Given the description of an element on the screen output the (x, y) to click on. 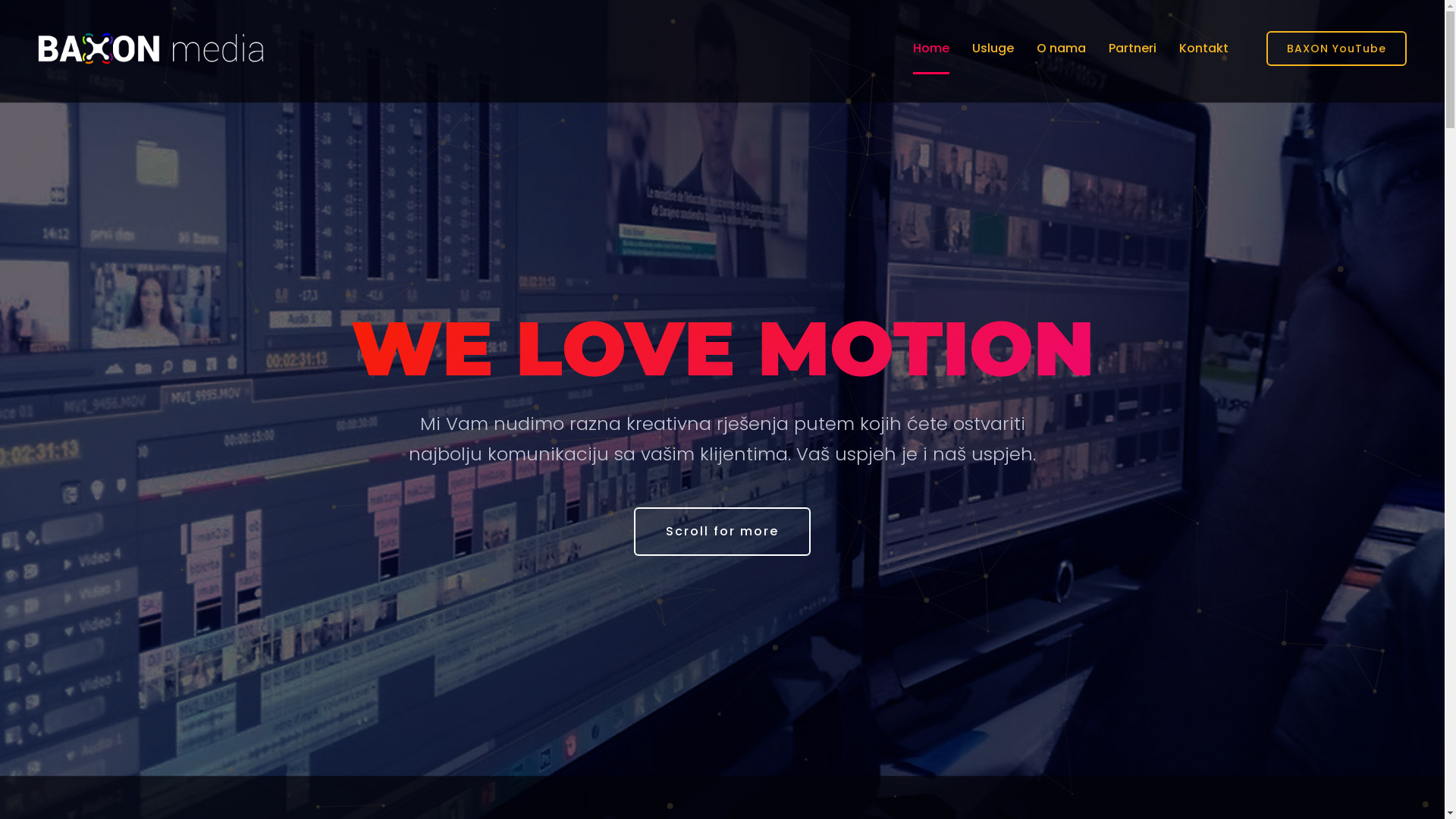
Home Element type: text (931, 48)
O nama Element type: text (1060, 48)
BAXON YouTube Element type: text (1336, 48)
Scroll for more Element type: text (721, 530)
Kontakt Element type: text (1203, 48)
Usluge Element type: text (992, 48)
Partneri Element type: text (1132, 48)
BAXON media Element type: hover (150, 48)
